Given the description of an element on the screen output the (x, y) to click on. 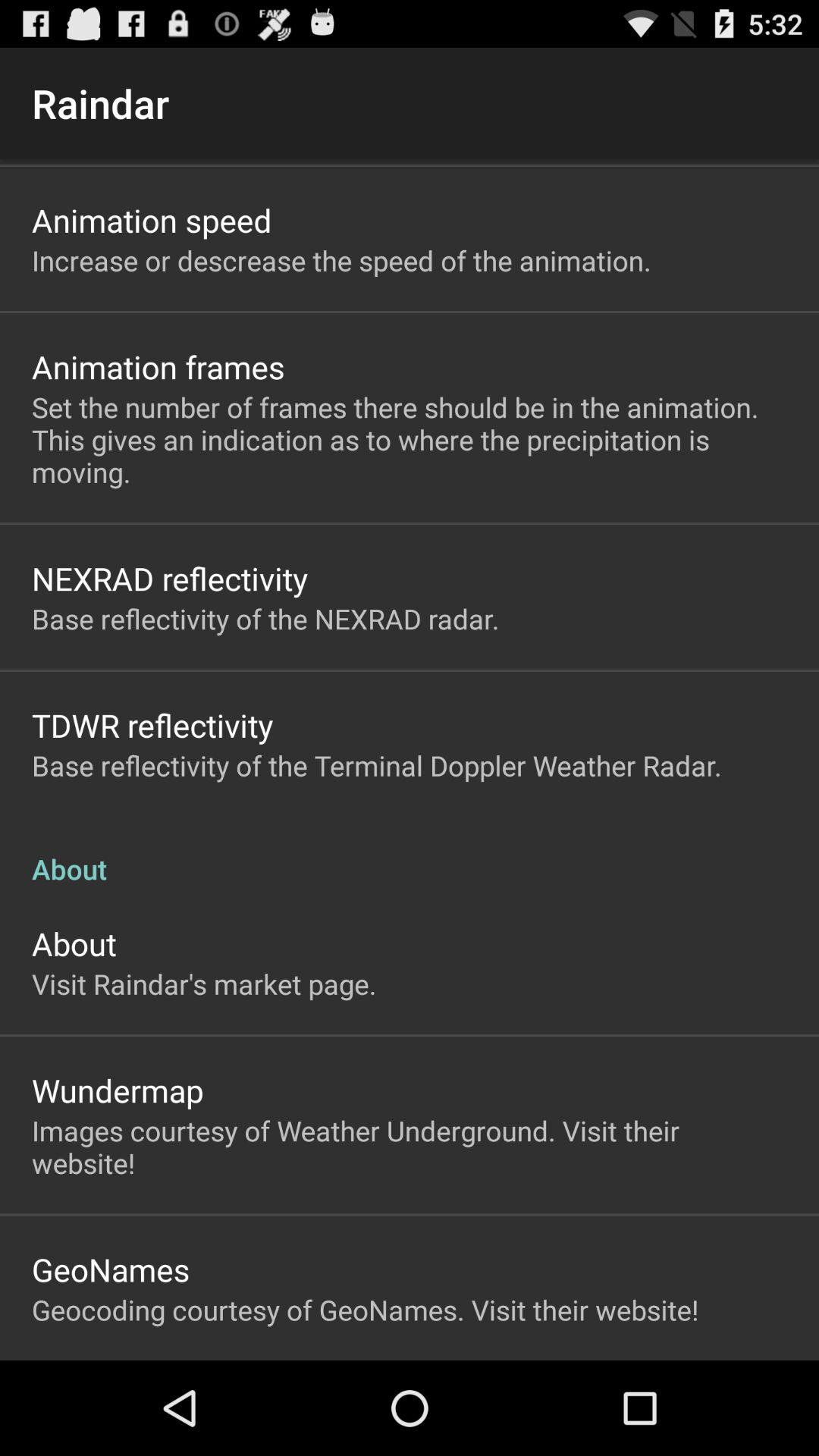
turn on increase or descrease item (341, 260)
